Given the description of an element on the screen output the (x, y) to click on. 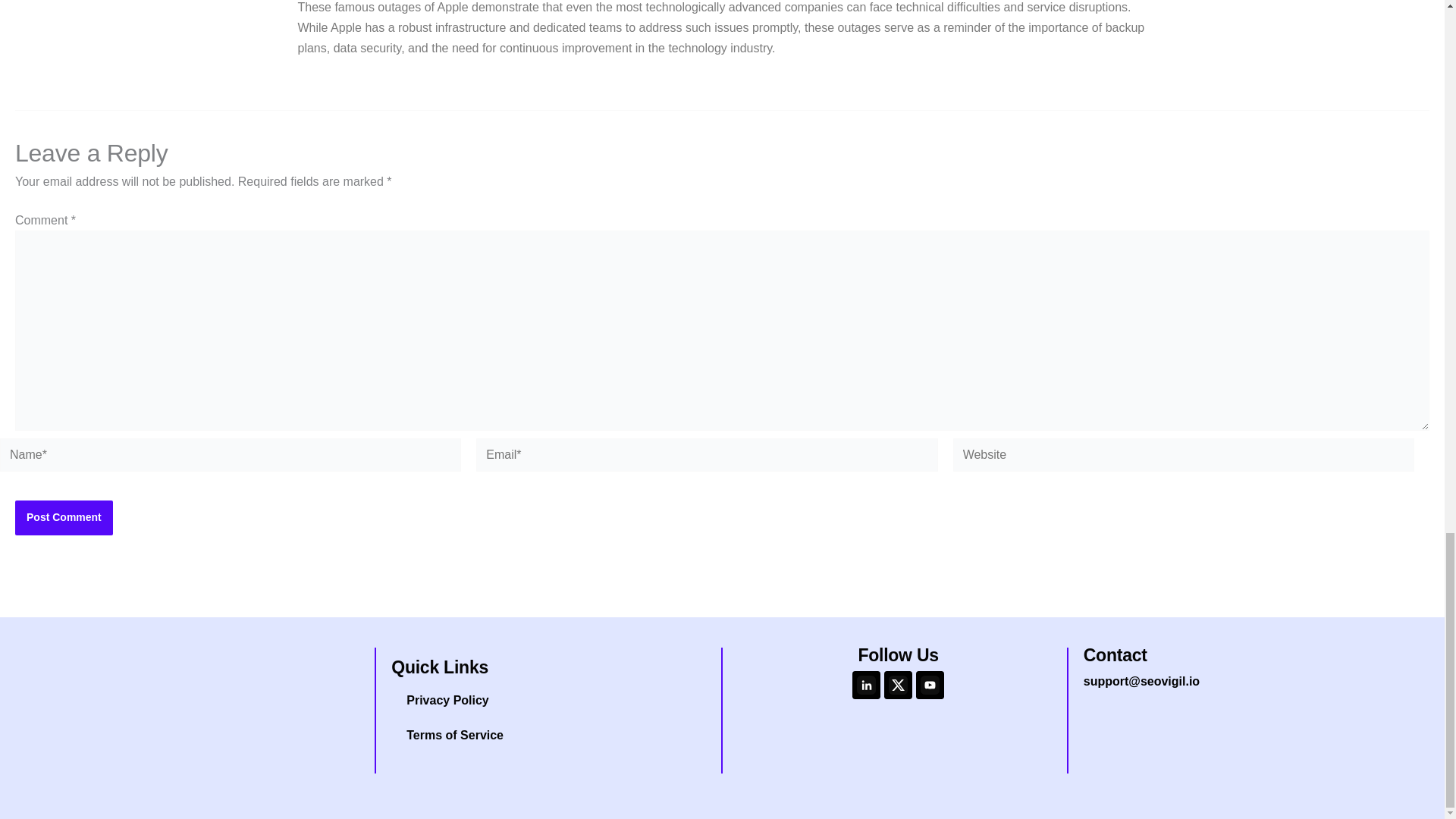
Post Comment (63, 517)
Privacy Policy (552, 700)
Terms of Service (552, 735)
Post Comment (63, 517)
